Given the description of an element on the screen output the (x, y) to click on. 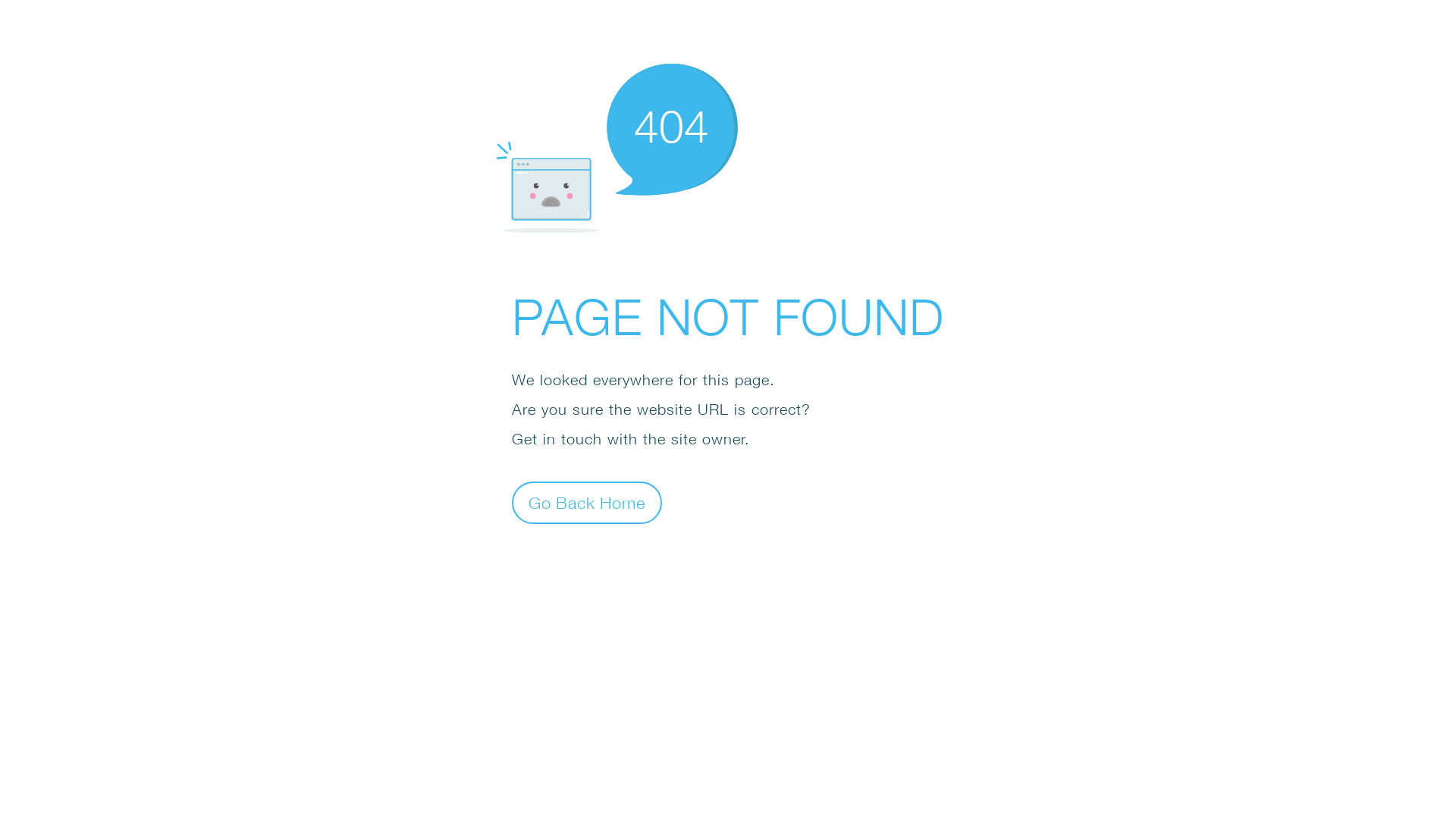
Go Back Home Element type: text (586, 502)
